Given the description of an element on the screen output the (x, y) to click on. 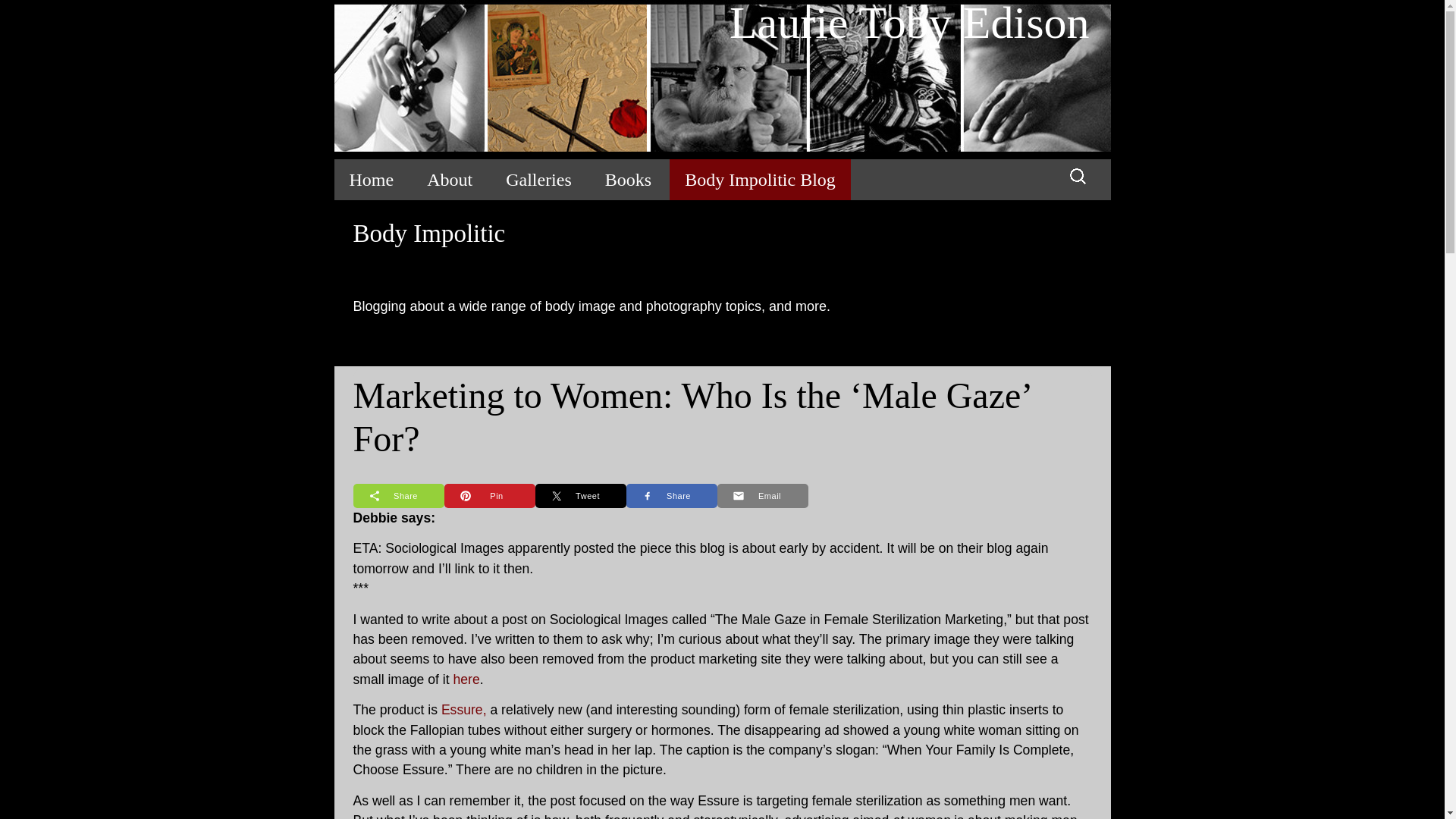
Galleries (538, 178)
Books (627, 178)
Laurie Toby Edison (721, 79)
Essure, (465, 709)
Laurie Toby Edison (721, 79)
here (466, 679)
Search (18, 15)
Body Impolitic Blog (759, 178)
Home (371, 178)
About (449, 178)
